Given the description of an element on the screen output the (x, y) to click on. 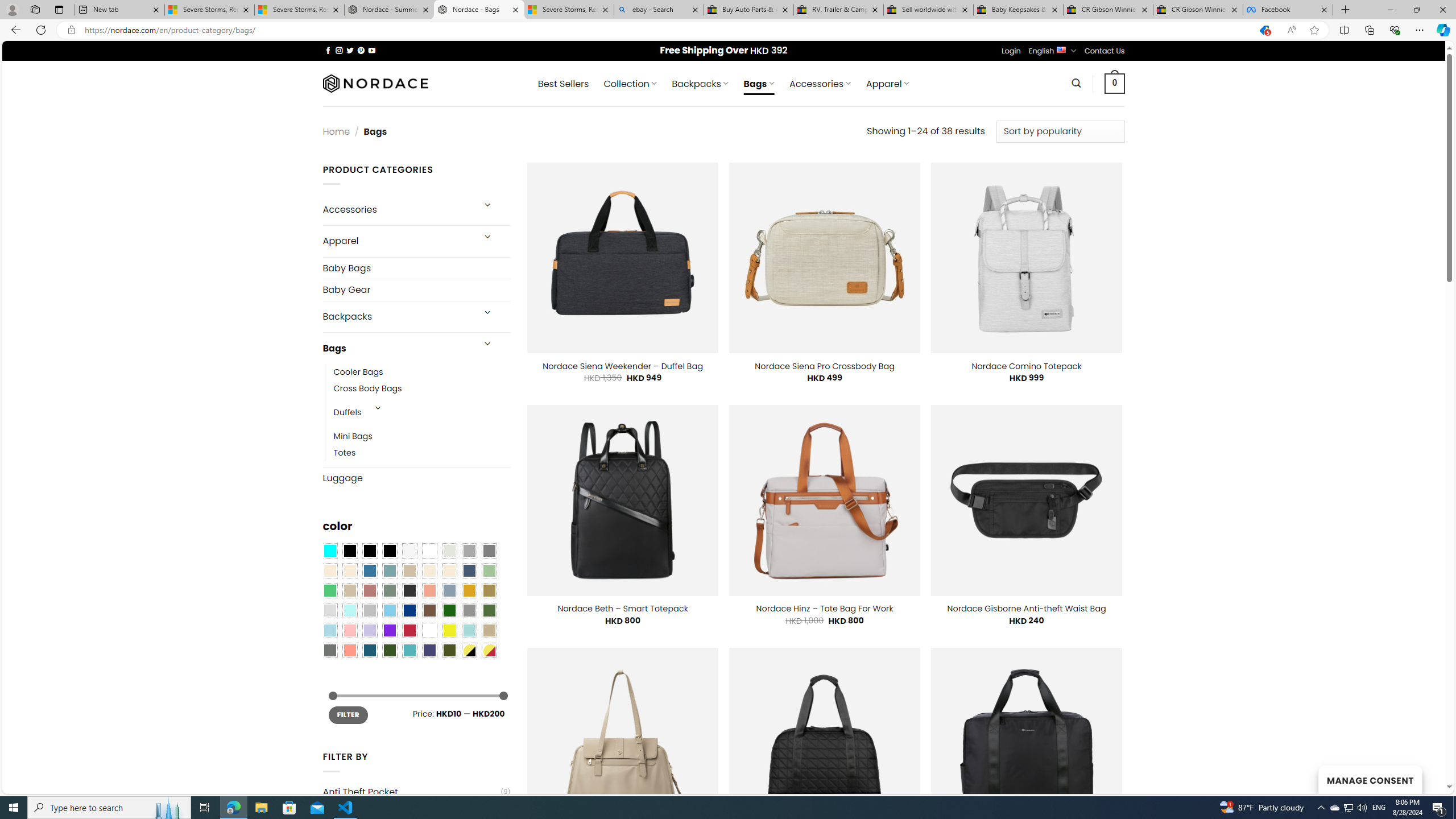
Anti Theft Pocket (410, 791)
All Gray (488, 550)
Nordace Gisborne Anti-theft Waist Bag (1026, 608)
Bags (397, 348)
Cross Body Bags (422, 388)
Mini Bags (422, 436)
Yellow (449, 630)
Coral (429, 590)
Nordace - Bags (478, 9)
